Given the description of an element on the screen output the (x, y) to click on. 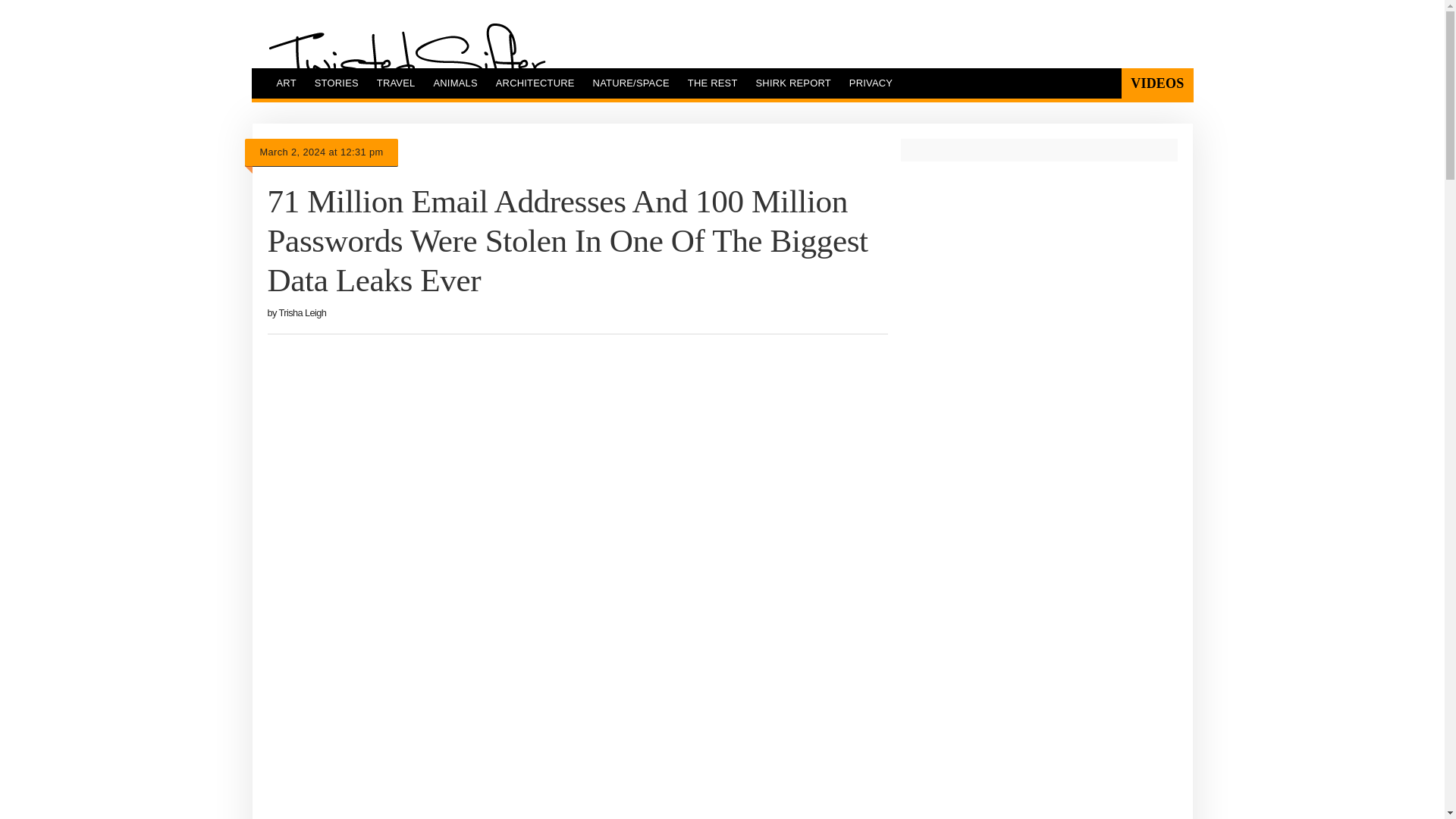
SHIRK REPORT (793, 82)
PRIVACY (870, 82)
ANIMALS (454, 82)
Home (406, 59)
VIDEOS (1156, 82)
THE REST (712, 82)
ARCHITECTURE (534, 82)
STORIES (336, 82)
TRAVEL (396, 82)
ART (285, 82)
